Given the description of an element on the screen output the (x, y) to click on. 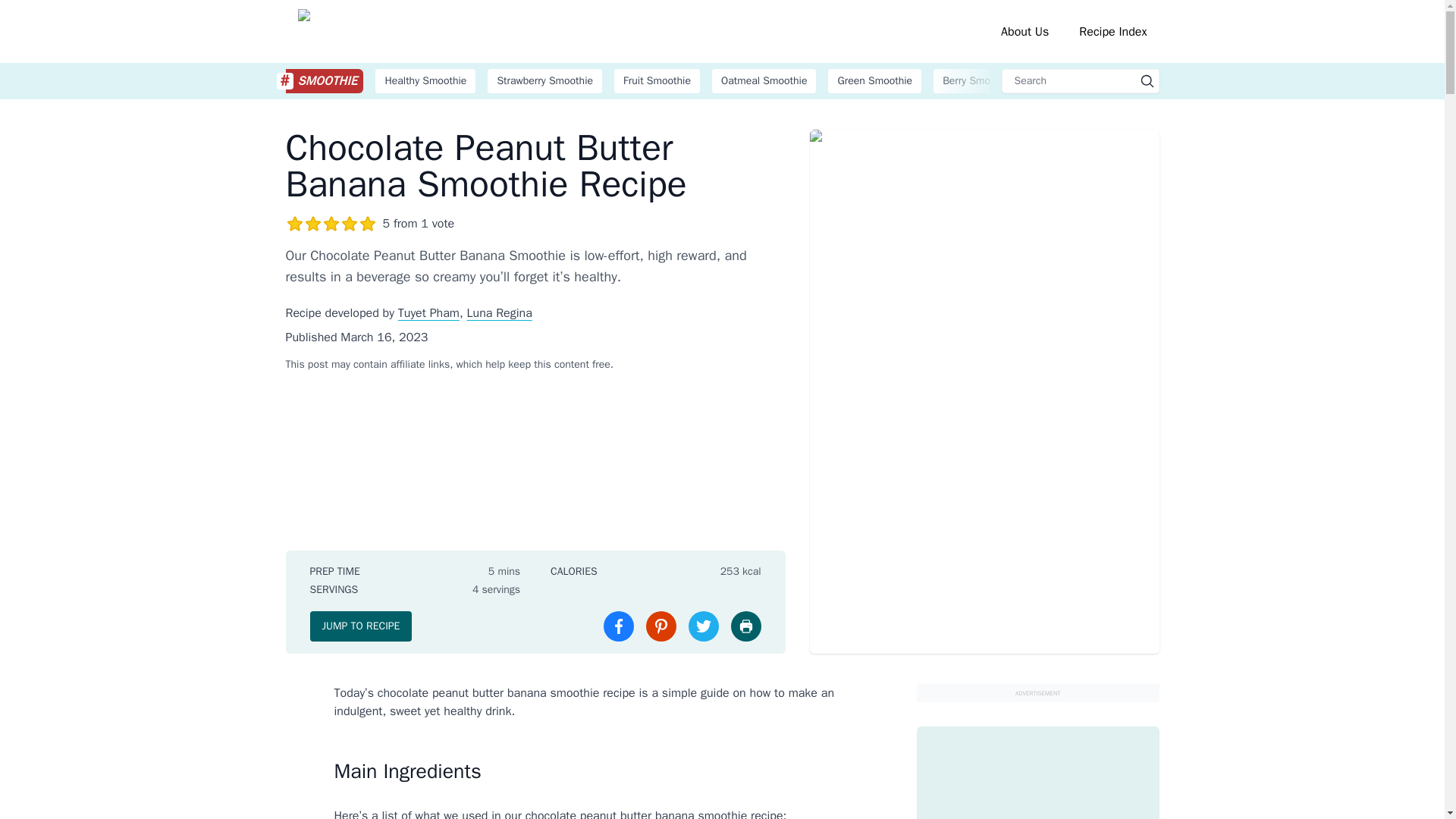
Green Smoothie (874, 80)
Fruit Smoothie (657, 80)
Oatmeal Smoothie (763, 80)
Berry Smoothie (977, 80)
Spinach Smoothie (1086, 80)
Blueberry Smoothie Recipes (1224, 80)
Healthy Smoothie (425, 80)
Blueberry Smoothie Recipes (1224, 80)
Luna Regina (499, 313)
Berry Smoothie (977, 80)
Fruit Smoothie (657, 80)
Green Smoothie (874, 80)
Fruit Smoothie (657, 80)
Oatmeal Smoothie (763, 80)
Spinach Smoothie (1086, 80)
